Given the description of an element on the screen output the (x, y) to click on. 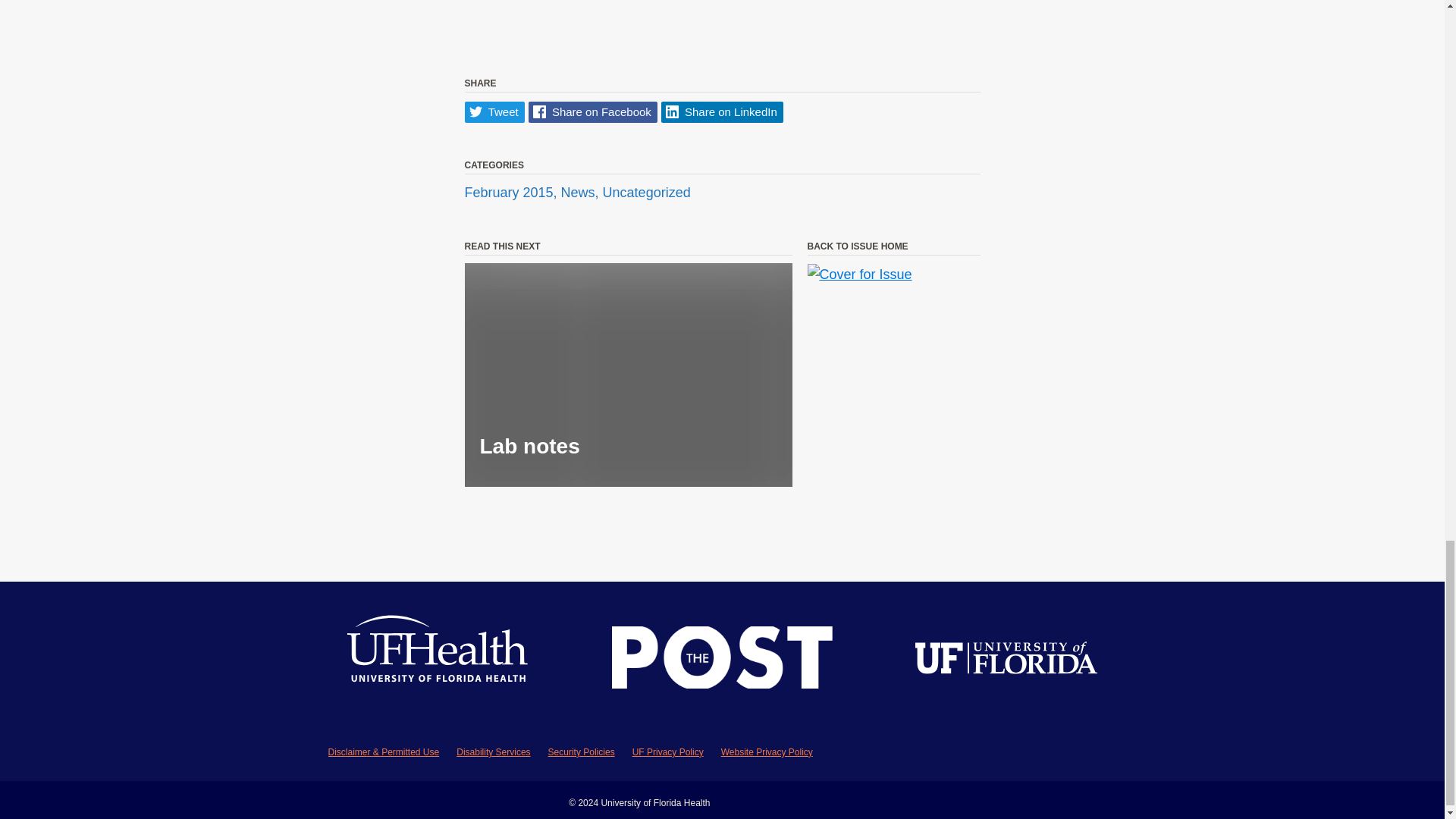
News, (581, 192)
UF Privacy Policy (667, 751)
Lab notes (628, 374)
Website Privacy Policy (766, 751)
Share on Facebook (593, 112)
University of Florida (1005, 660)
Share on LinkedIn (722, 112)
UF Health (437, 660)
Publication Logo (721, 660)
University of Florida Logo (1005, 660)
Uncategorized (646, 192)
Tweet (494, 112)
UF Health Logo (437, 660)
Disability Services (493, 751)
Security Policies (581, 751)
